Given the description of an element on the screen output the (x, y) to click on. 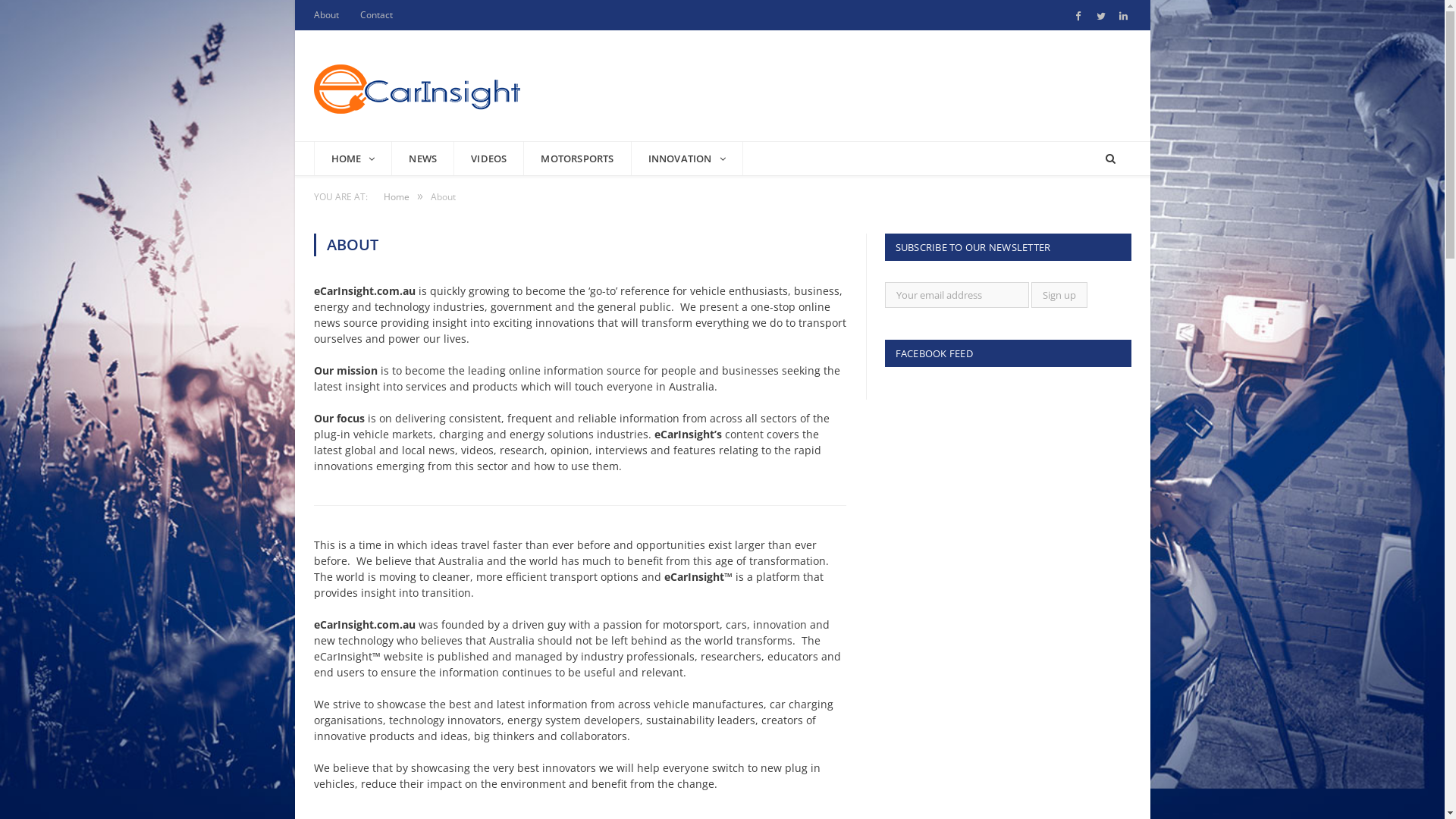
INNOVATION Element type: text (687, 158)
Search Element type: hover (1109, 158)
Contact Element type: text (375, 14)
About Element type: text (325, 14)
ecarinsight Element type: hover (416, 84)
NEWS Element type: text (423, 158)
Facebook Element type: text (1077, 16)
LinkedIn Element type: text (1123, 16)
Sign up Element type: text (1059, 294)
Twitter Element type: text (1100, 16)
VIDEOS Element type: text (489, 158)
MOTORSPORTS Element type: text (577, 158)
Home Element type: text (396, 196)
HOME Element type: text (352, 158)
